Given the description of an element on the screen output the (x, y) to click on. 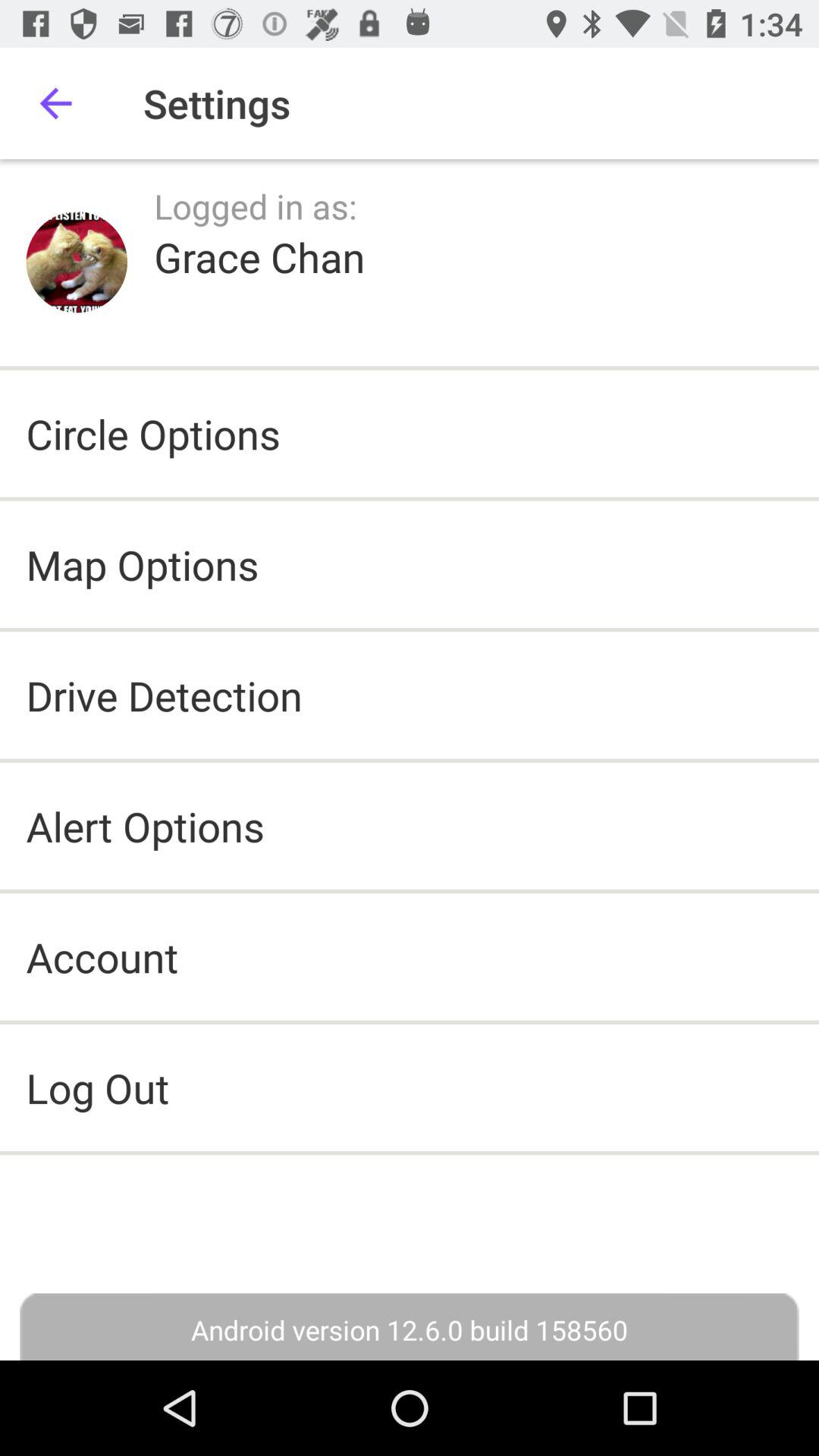
press account icon (102, 956)
